Given the description of an element on the screen output the (x, y) to click on. 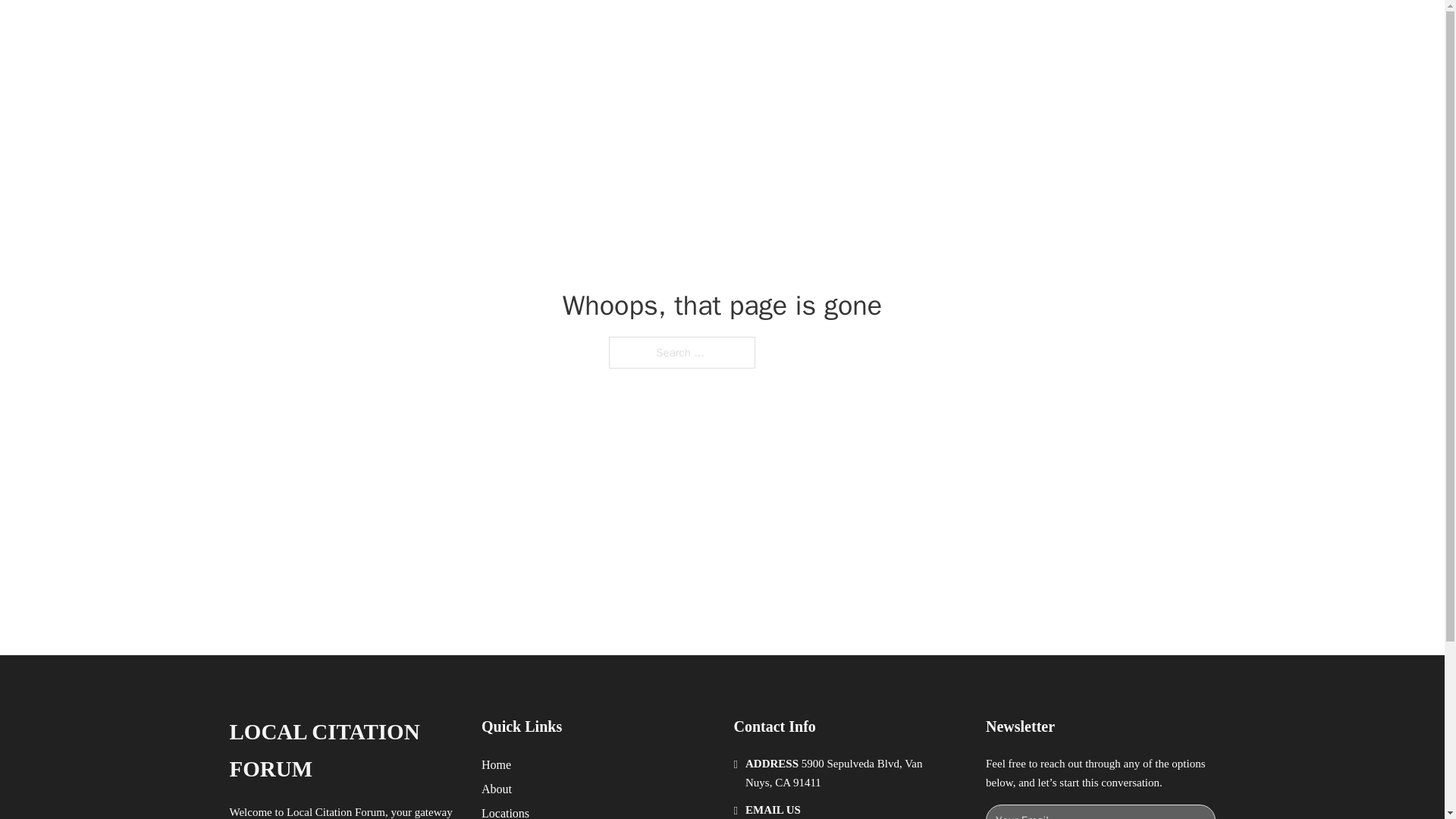
Locations (505, 811)
Home (496, 764)
LOCAL CITATION FORUM (343, 750)
LOCAL CITATION FORUM (429, 28)
About (496, 788)
HOME (919, 29)
LOCATIONS (990, 29)
